Given the description of an element on the screen output the (x, y) to click on. 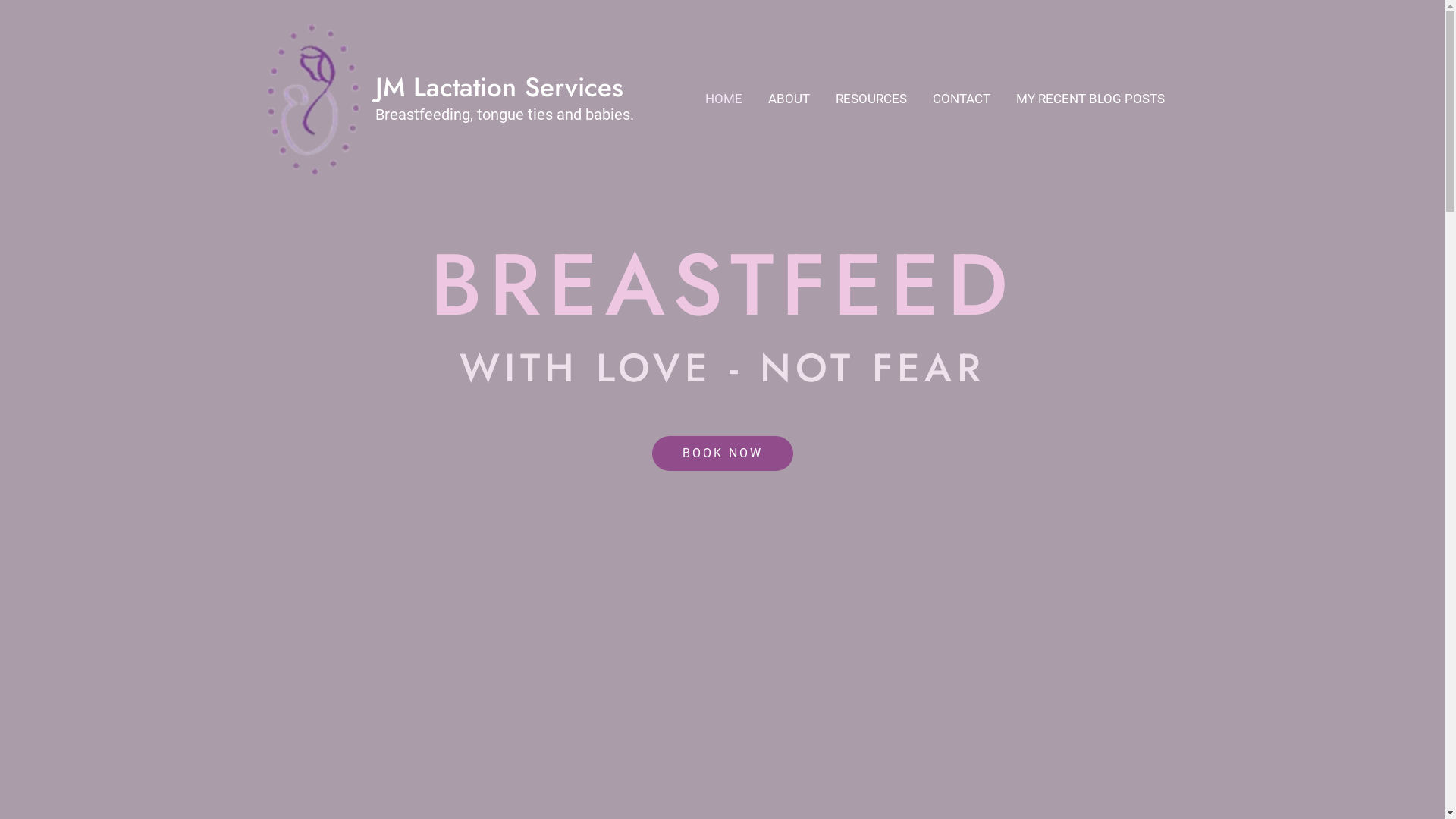
BOOK NOW Element type: text (722, 453)
CONTACT Element type: text (960, 98)
HOME Element type: text (722, 98)
JM Lactation Services Element type: text (498, 87)
MY RECENT BLOG POSTS Element type: text (1089, 98)
ABOUT Element type: text (788, 98)
RESOURCES Element type: text (870, 98)
